Given the description of an element on the screen output the (x, y) to click on. 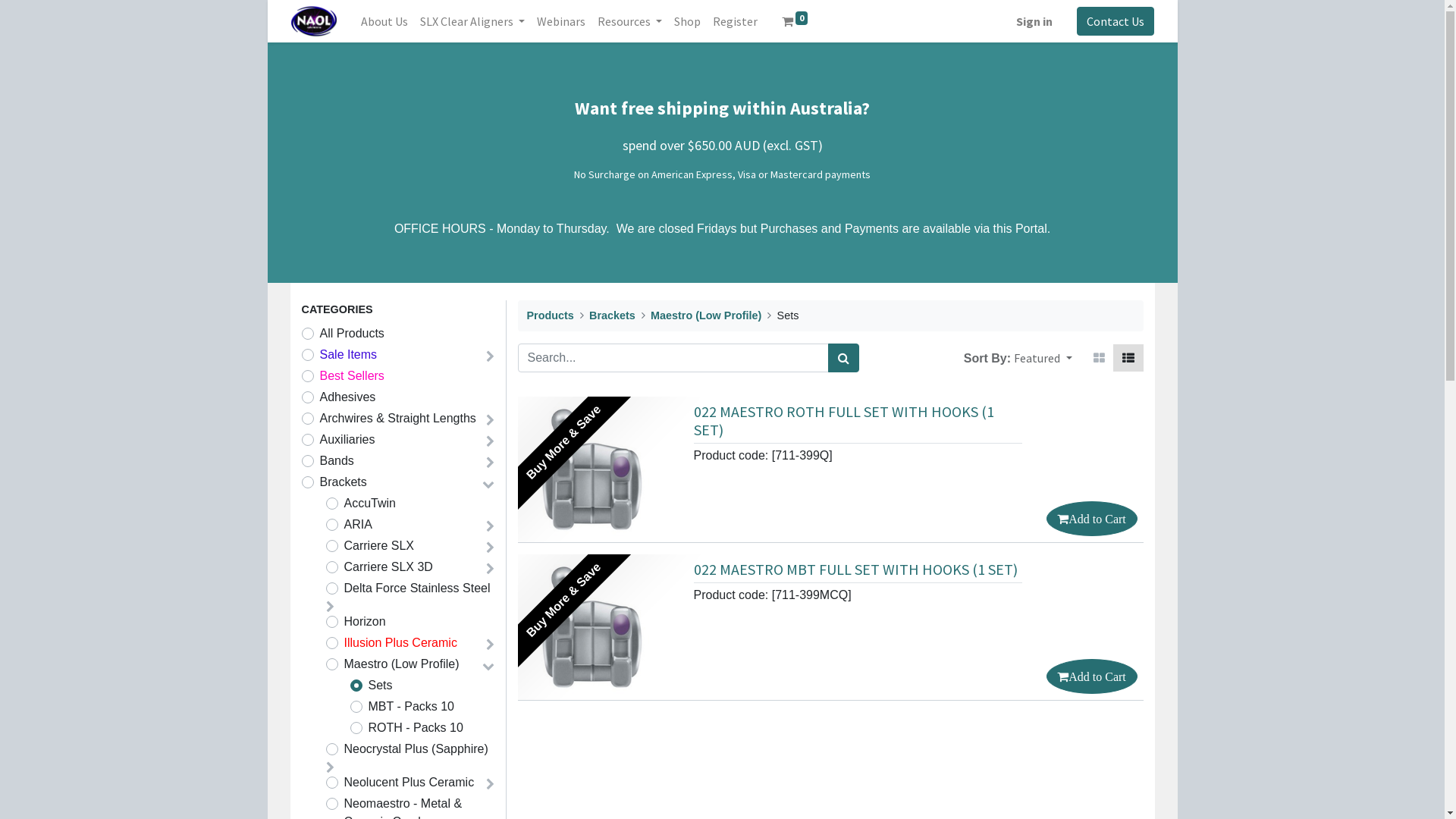
Fold Element type: hover (489, 644)
Add to Cart Element type: text (1091, 675)
Products Element type: text (549, 315)
022 MAESTRO MBT FULL SET WITH HOOKS (1 SET) Element type: text (854, 568)
Fold Element type: hover (489, 547)
SLX Clear Aligners Element type: text (472, 21)
About Us Element type: text (384, 21)
Fold Element type: hover (489, 568)
Featured Element type: text (1042, 357)
Fold Element type: hover (489, 441)
Fold Element type: hover (330, 767)
Fold Element type: hover (489, 784)
Fold Element type: hover (330, 606)
Fold Element type: hover (489, 420)
Webinars Element type: text (560, 21)
Unfold Element type: hover (488, 665)
Register Element type: text (734, 21)
Maestro (Low Profile) Element type: text (705, 315)
Add to Cart Element type: text (1091, 518)
List Element type: hover (1128, 357)
Search Element type: hover (843, 357)
Brackets Element type: text (612, 315)
Grid Element type: hover (1098, 357)
Fold Element type: hover (489, 526)
Shop Element type: text (687, 21)
Fold Element type: hover (489, 462)
Contact Us Element type: text (1115, 20)
Resources Element type: text (629, 21)
Fold Element type: hover (489, 356)
022 MAESTRO ROTH FULL SET WITH HOOKS (1 SET) Element type: text (843, 420)
Sign in Element type: text (1034, 21)
NAOL Australia Element type: hover (314, 21)
Unfold Element type: hover (488, 483)
0 Element type: text (794, 21)
